Given the description of an element on the screen output the (x, y) to click on. 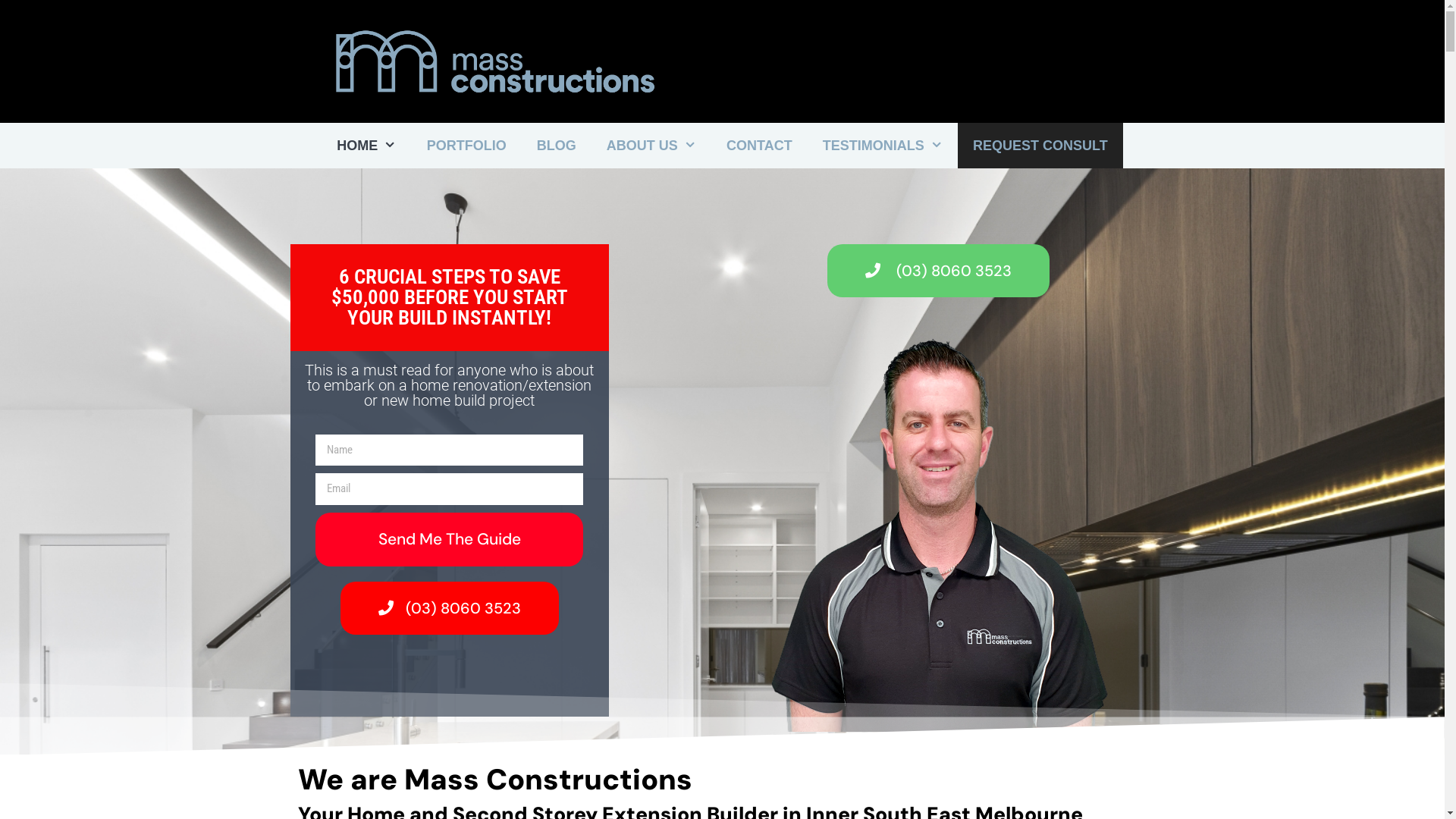
PORTFOLIO Element type: text (466, 145)
BLOG Element type: text (556, 145)
TESTIMONIALS Element type: text (882, 145)
(03) 8060 3523 Element type: text (448, 607)
ABOUT US Element type: text (651, 145)
Send Me The Guide Element type: text (449, 539)
Search Element type: text (39, 19)
REQUEST CONSULT Element type: text (1040, 145)
HOME Element type: text (366, 145)
CONTACT Element type: text (759, 145)
(03) 8060 3523 Element type: text (938, 270)
